Given the description of an element on the screen output the (x, y) to click on. 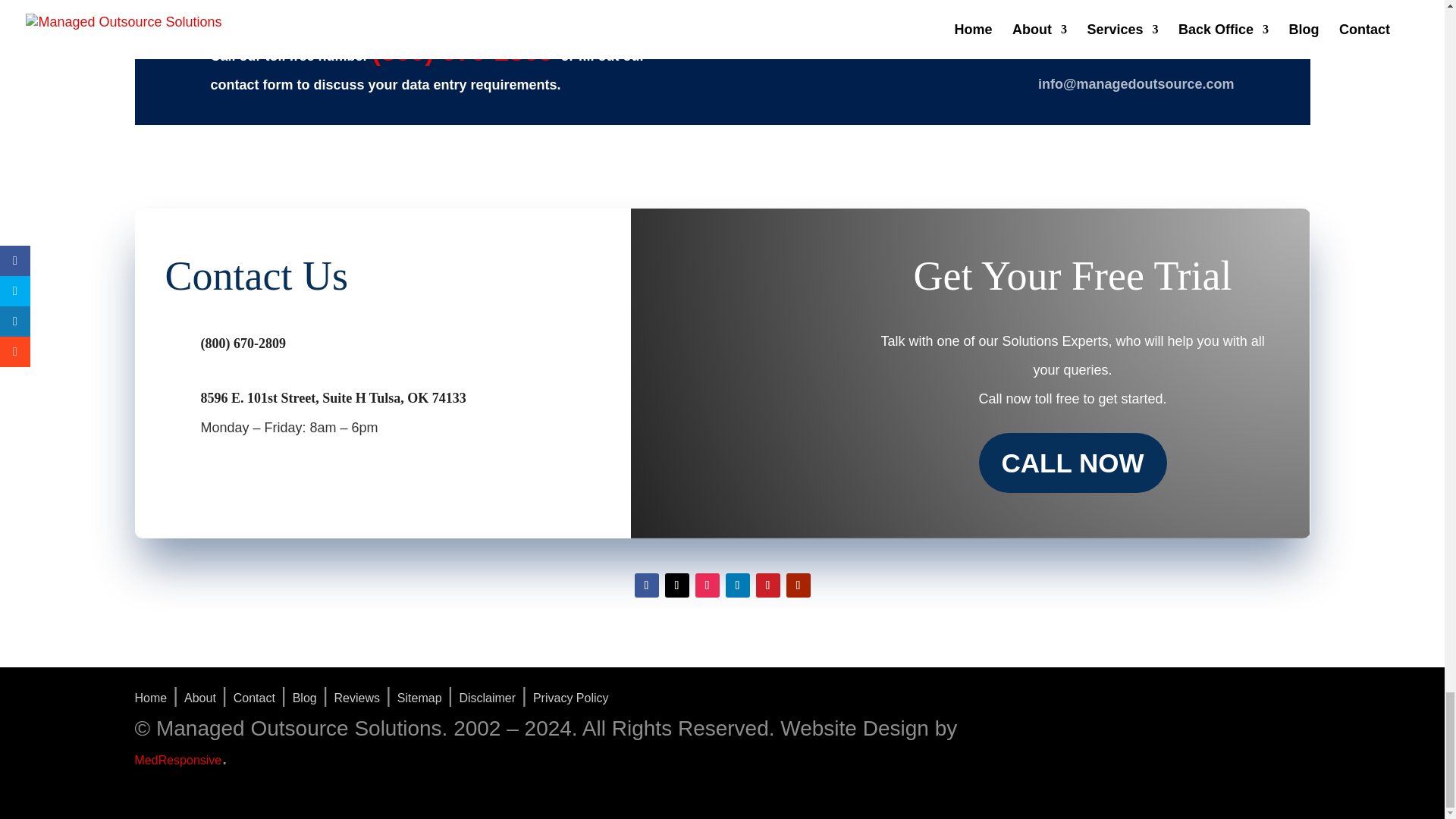
Follow on Instagram (706, 585)
Contact Us (350, 279)
Follow on Pinterest (766, 585)
Follow on X (675, 585)
Get Your Free Trial (1072, 279)
Follow on Facebook (645, 585)
Follow on Youtube (797, 585)
Follow on LinkedIn (737, 585)
